Given the description of an element on the screen output the (x, y) to click on. 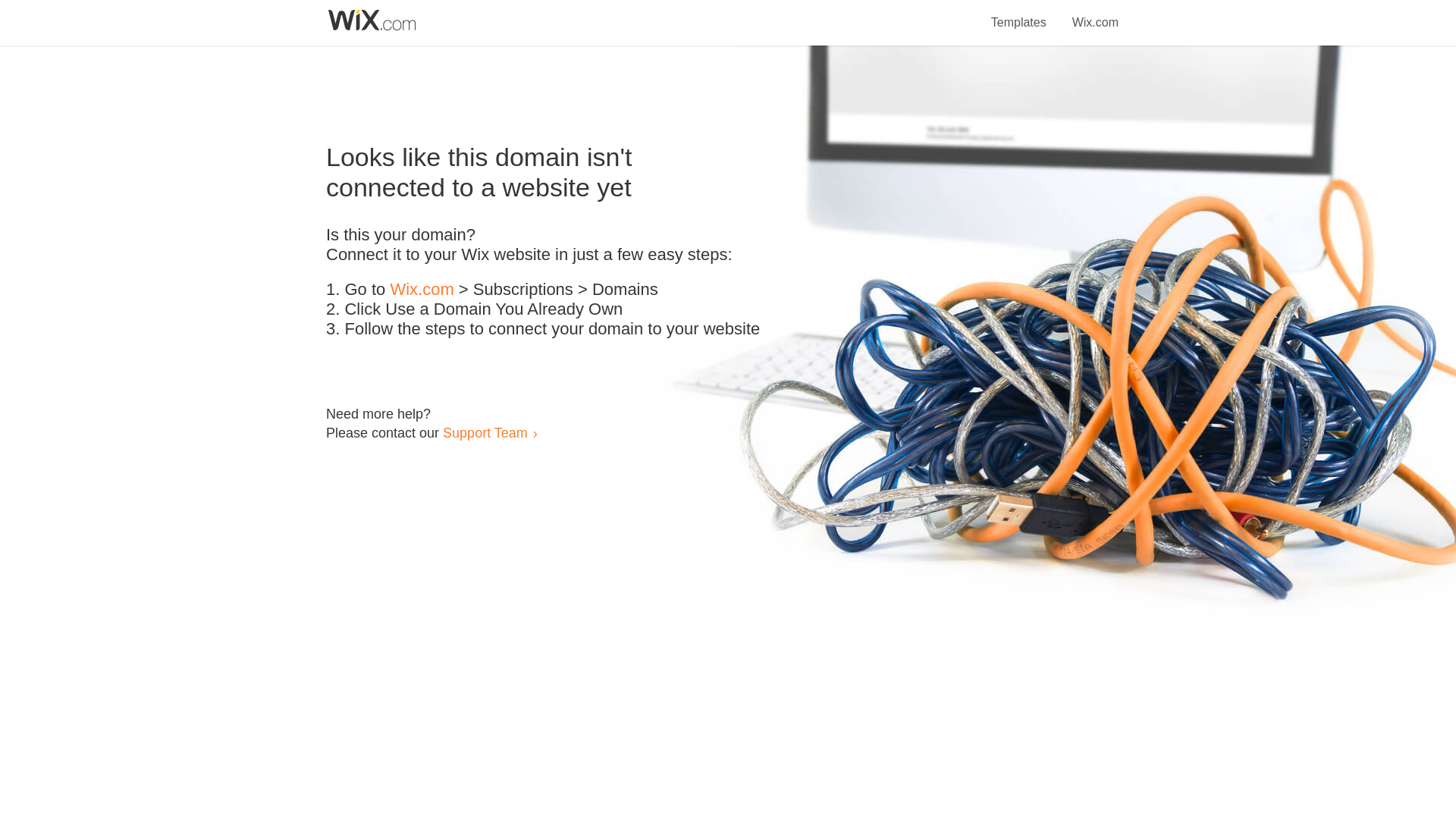
Support Team (484, 432)
Wix.com (1095, 14)
Templates (1018, 14)
Wix.com (421, 289)
